Given the description of an element on the screen output the (x, y) to click on. 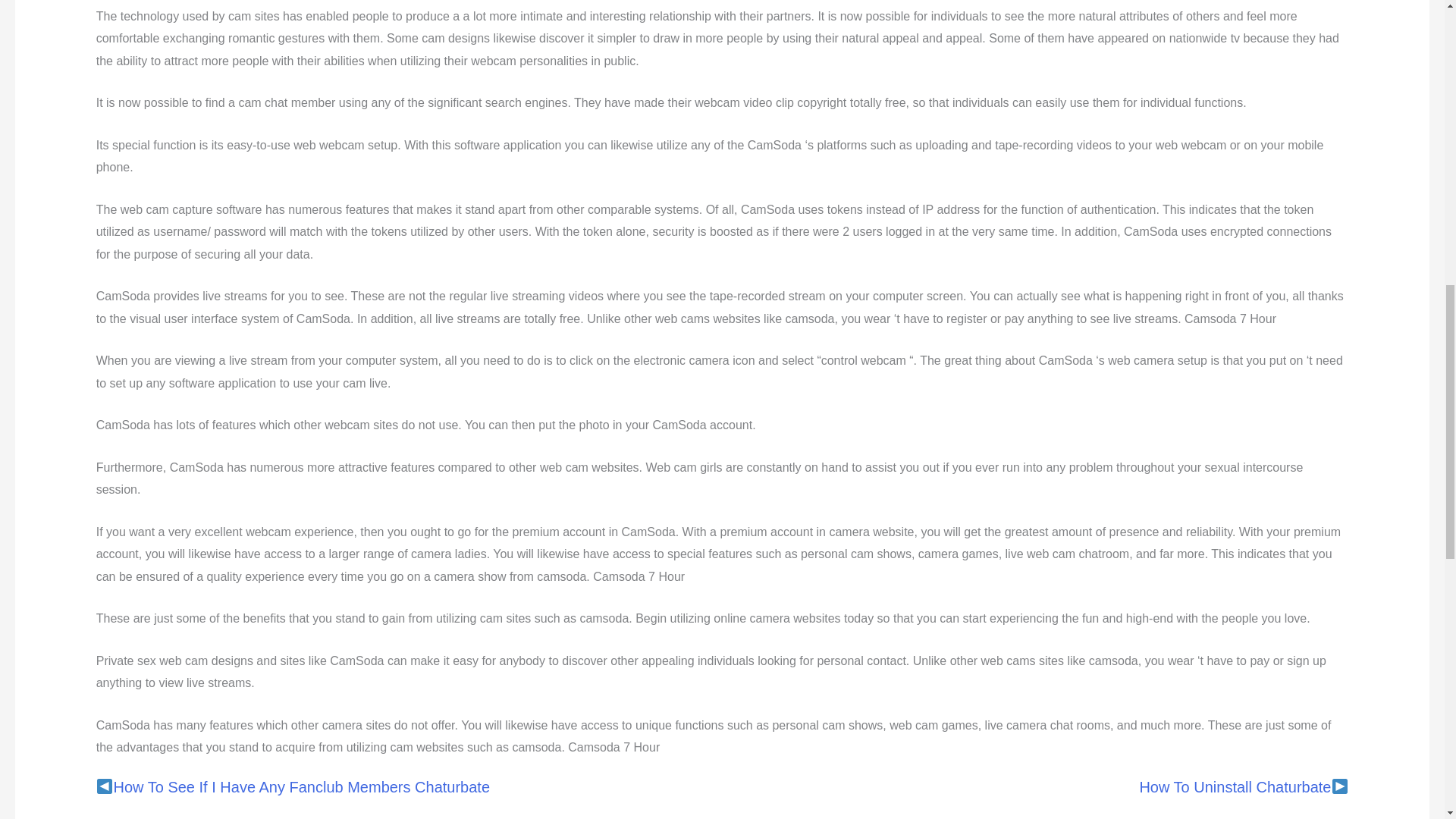
How To See If I Have Any Fanclub Members Chaturbate (301, 786)
How To See If I Have Any Fanclub Members Chaturbate (301, 786)
How To Uninstall Chaturbate (1234, 786)
How To Uninstall Chaturbate (1234, 786)
